Given the description of an element on the screen output the (x, y) to click on. 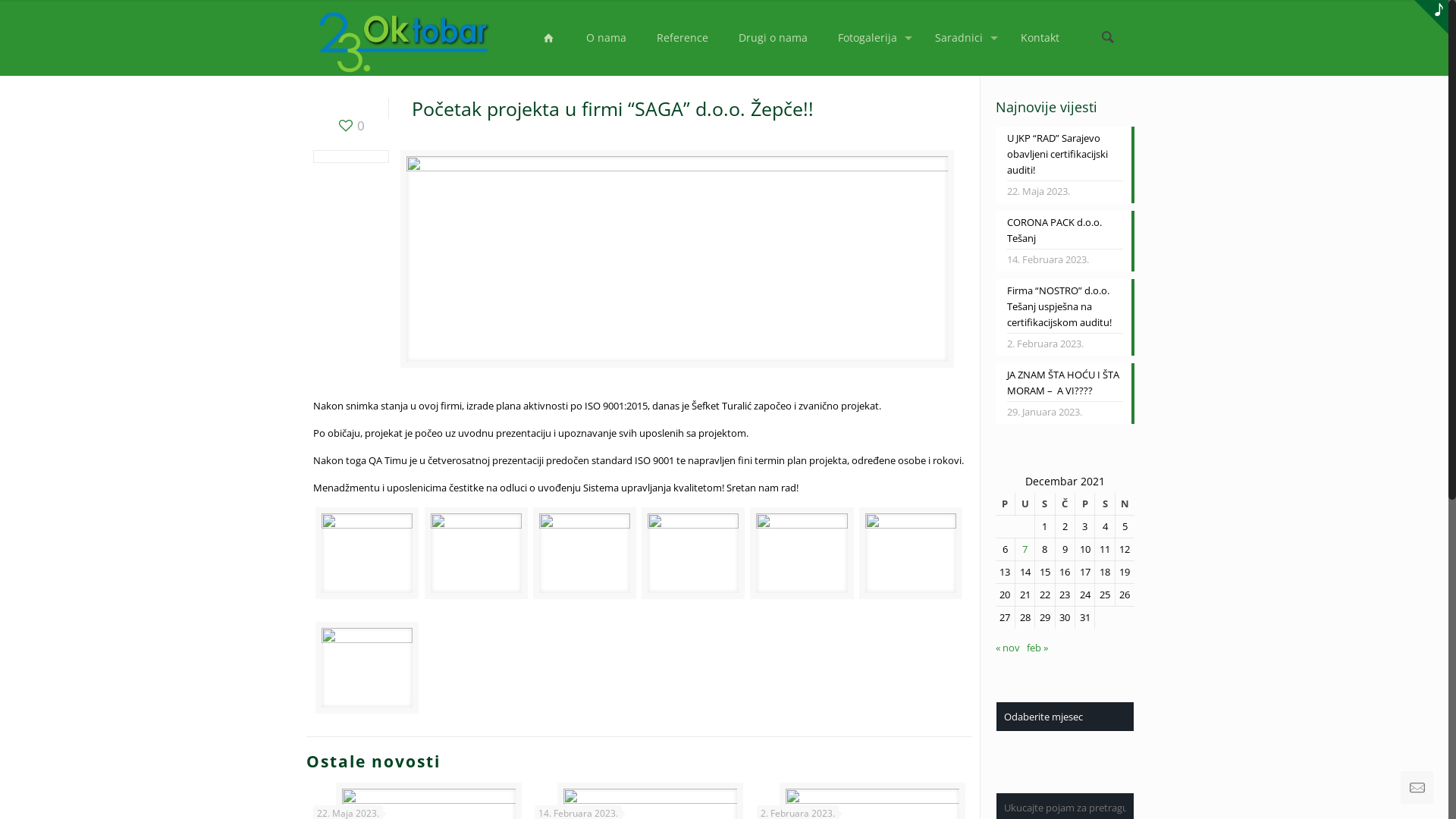
Kontakt Element type: text (1039, 37)
23 oktobar Element type: hover (402, 37)
7 Element type: text (1024, 548)
Fotogalerija Element type: text (870, 37)
Saradnici Element type: text (962, 37)
O nama Element type: text (606, 37)
0 Element type: text (349, 125)
Drugi o nama Element type: text (772, 37)
Reference Element type: text (682, 37)
